Given the description of an element on the screen output the (x, y) to click on. 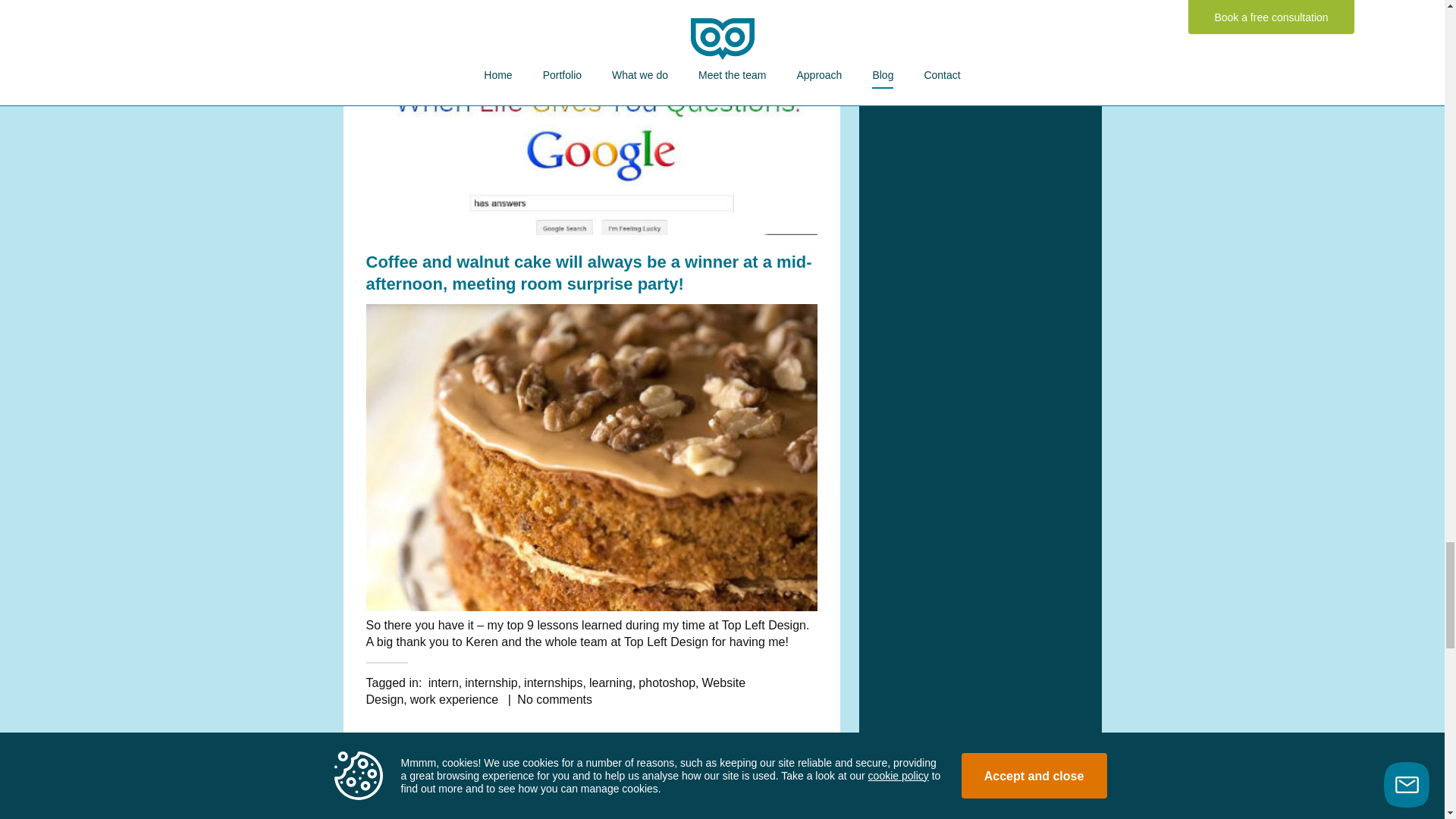
photoshop (667, 682)
internships (553, 682)
Website Design (555, 690)
Build your best Sangria - infographic from missouriwine.org (590, 12)
internship (490, 682)
intern (443, 682)
work experience (454, 698)
learning (610, 682)
